Given the description of an element on the screen output the (x, y) to click on. 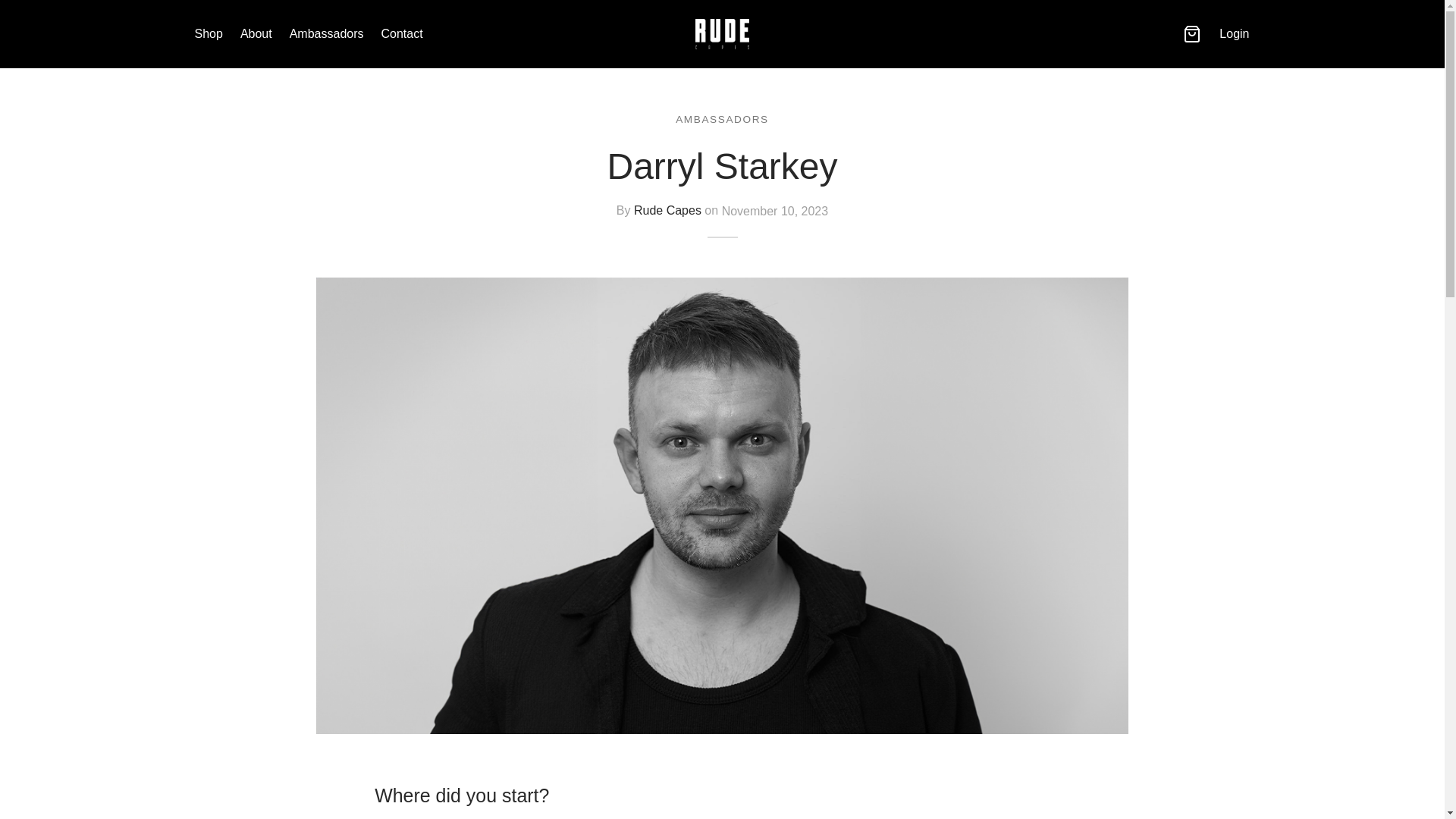
Ambassadors (326, 34)
Shop (207, 34)
About (256, 34)
Posts by Rude Capes (667, 210)
Login (1234, 33)
AMBASSADORS (721, 118)
Contact (402, 34)
Rude Capes (667, 210)
